Given the description of an element on the screen output the (x, y) to click on. 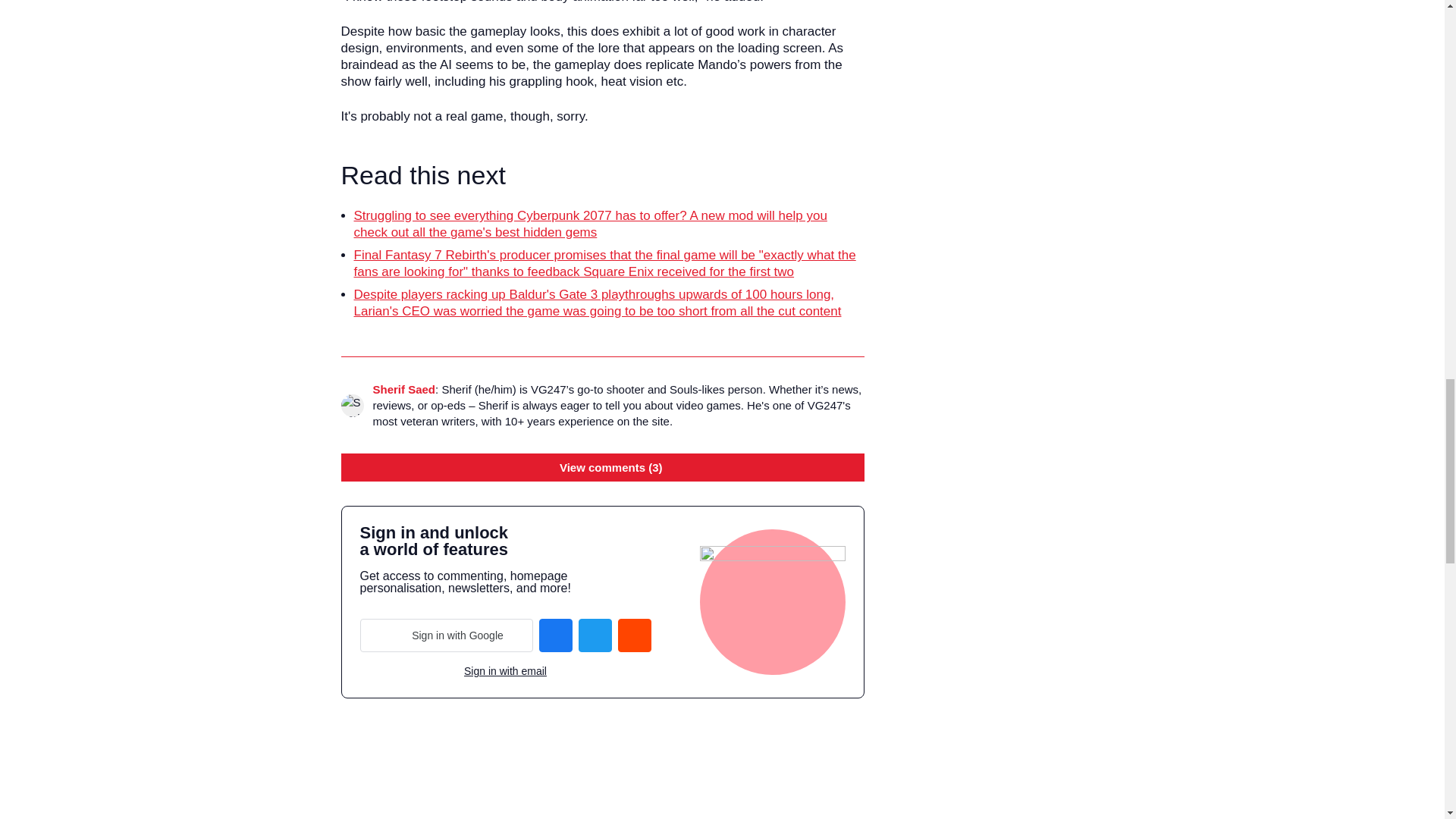
Sherif Saed (403, 389)
Sign in with Google (445, 635)
Sign in with Google (445, 635)
Sign in with Facebook (555, 635)
Sign in with email (504, 671)
Sign in with Twitter (594, 635)
